Given the description of an element on the screen output the (x, y) to click on. 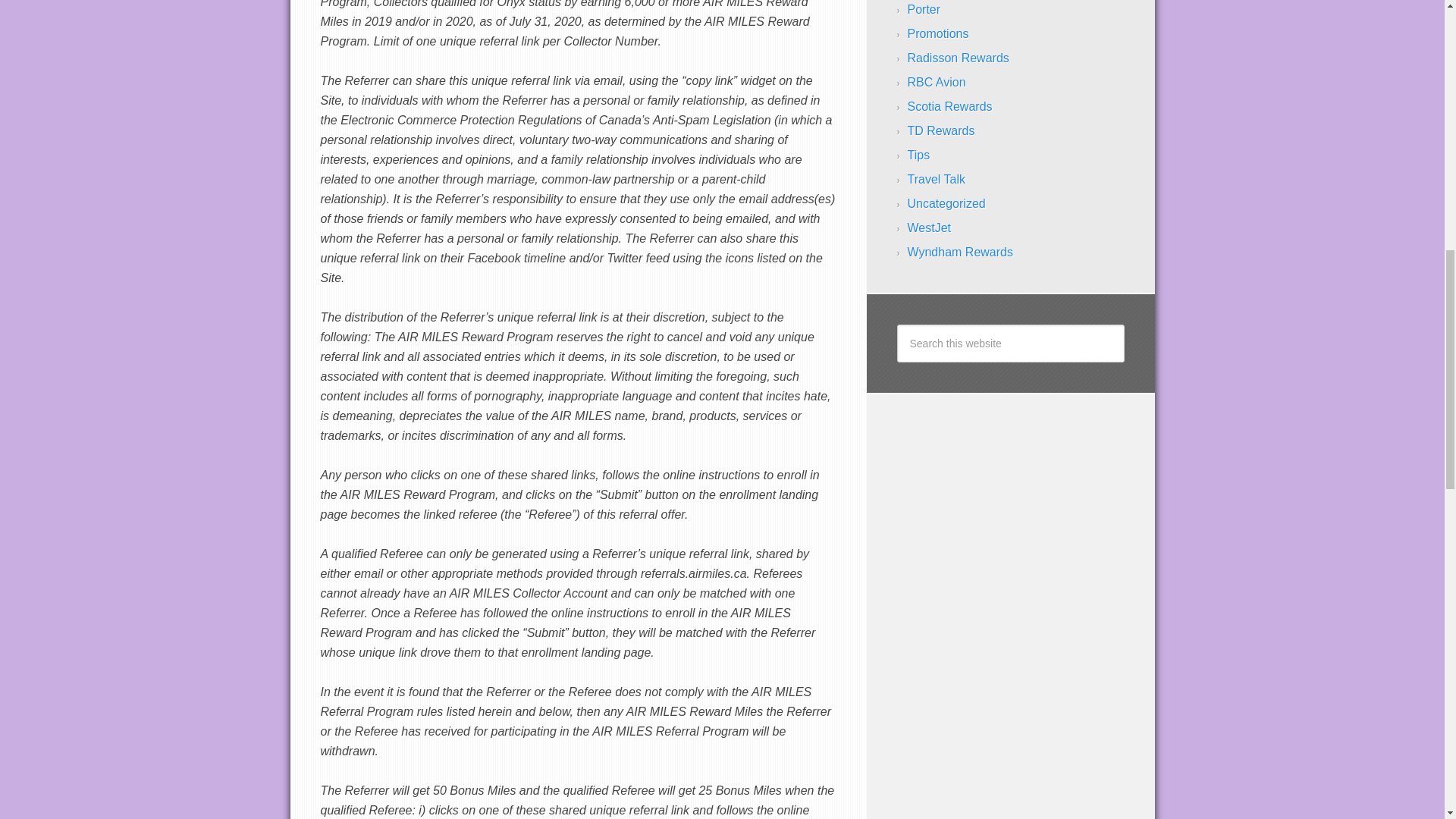
Promotions (937, 33)
Radisson Rewards (958, 57)
Uncategorized (946, 203)
WestJet (928, 227)
Tips (918, 154)
Porter (923, 9)
Scotia Rewards (949, 106)
TD Rewards (940, 130)
RBC Avion (936, 82)
Travel Talk (935, 178)
